Given the description of an element on the screen output the (x, y) to click on. 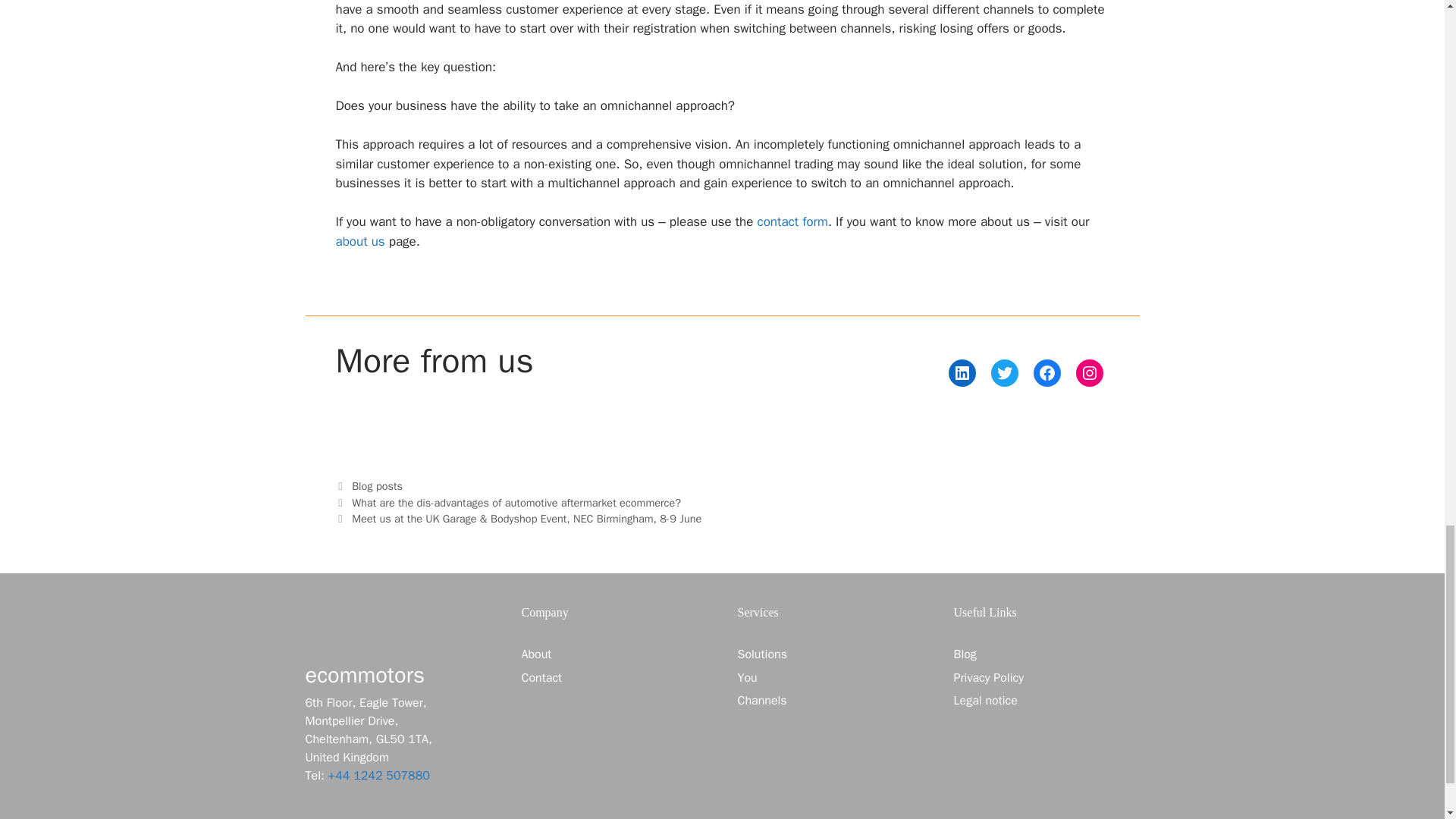
about us (359, 241)
contact form (792, 221)
Twitter (1003, 372)
Instagram (1088, 372)
Facebook (1045, 372)
LinkedIn (961, 372)
